Given the description of an element on the screen output the (x, y) to click on. 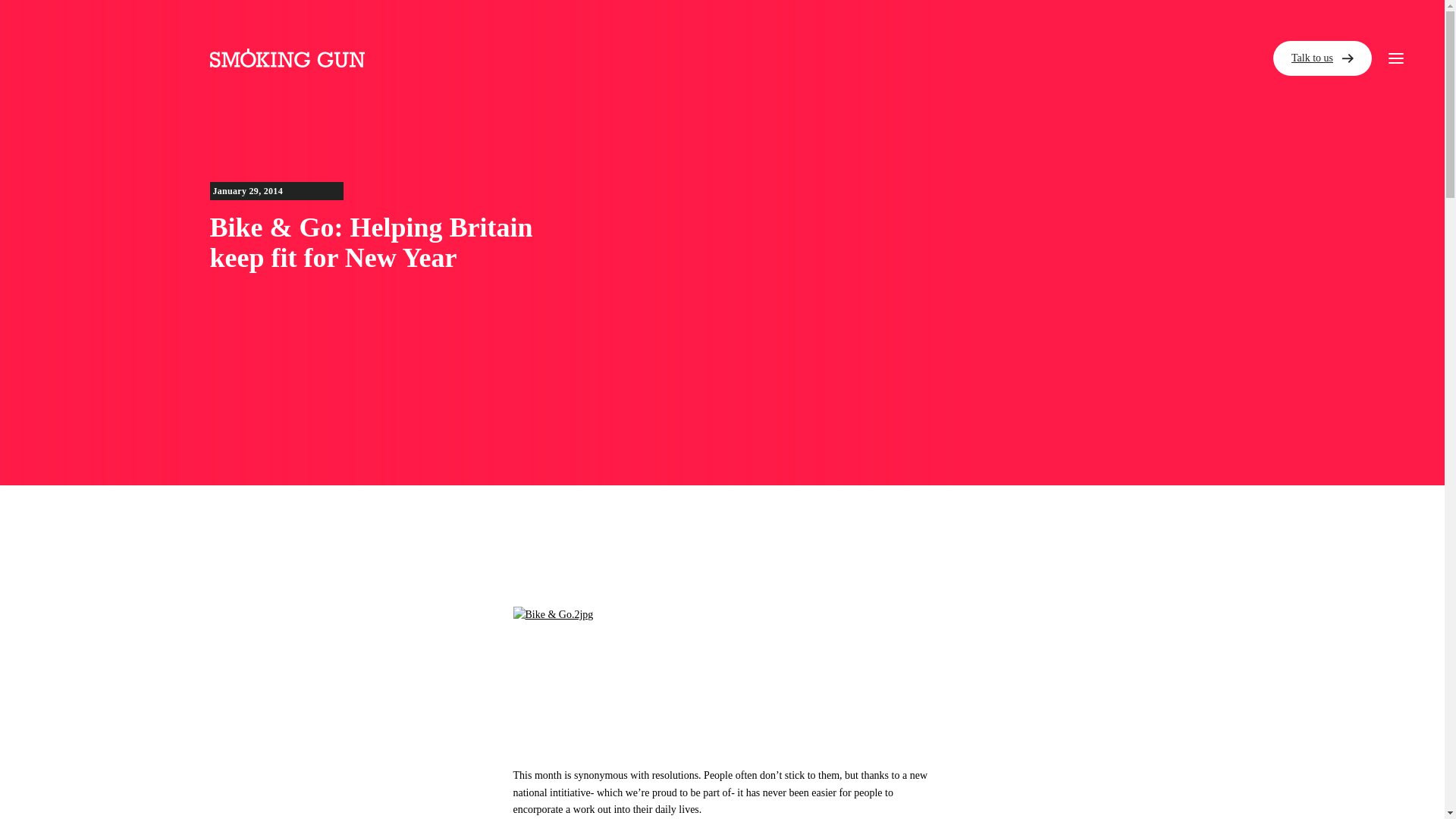
apprenticeships (947, 145)
resources and news (975, 21)
Talk to us (1321, 58)
jobs (857, 81)
Smoking Gun PR (287, 57)
talk to us (897, 209)
